Given the description of an element on the screen output the (x, y) to click on. 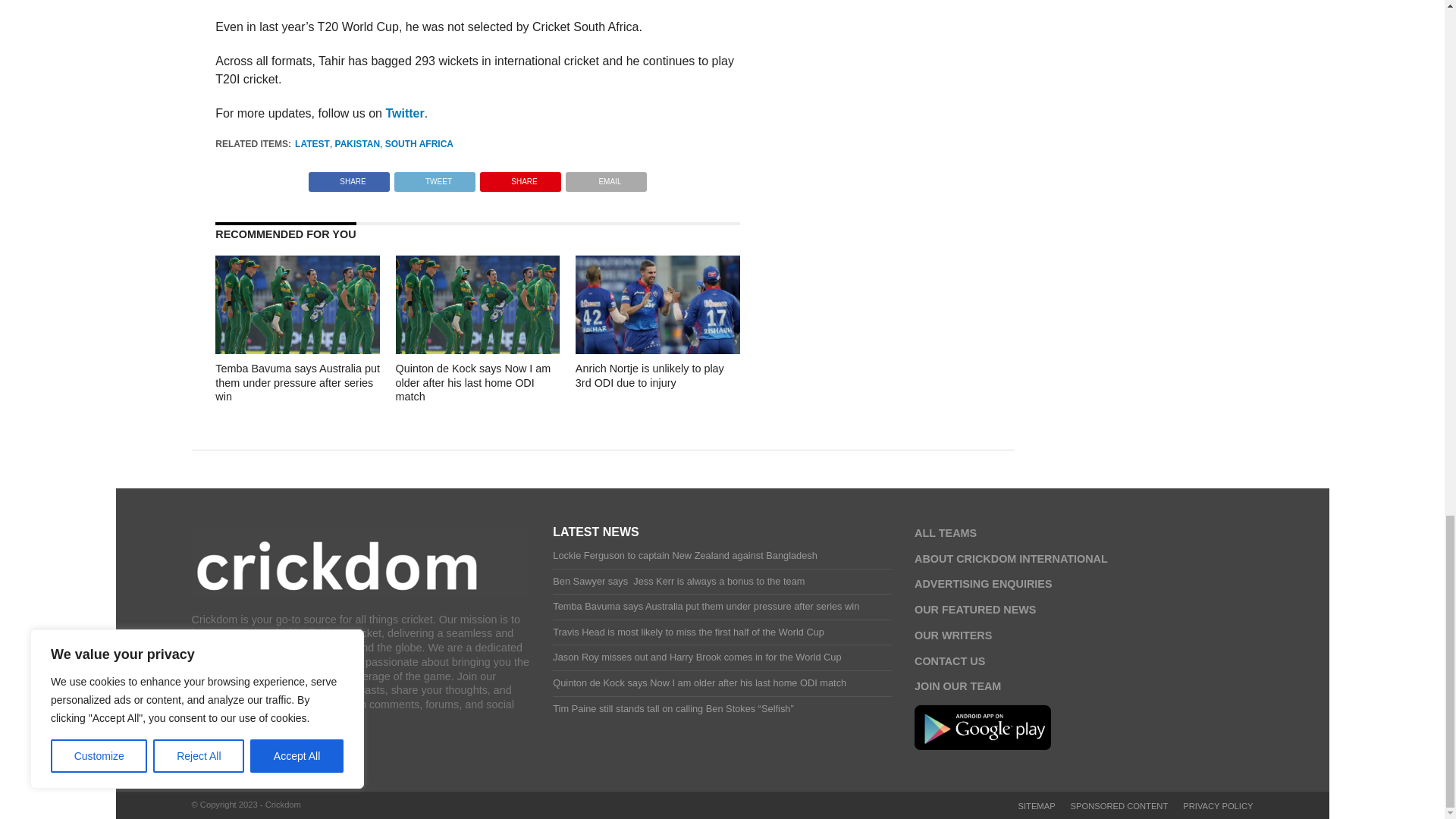
Tweet This Post (434, 177)
Pin This Post (520, 177)
Anrich Nortje is unlikely to play 3rd ODI due to injury (657, 349)
Share on Facebook (349, 177)
